Given the description of an element on the screen output the (x, y) to click on. 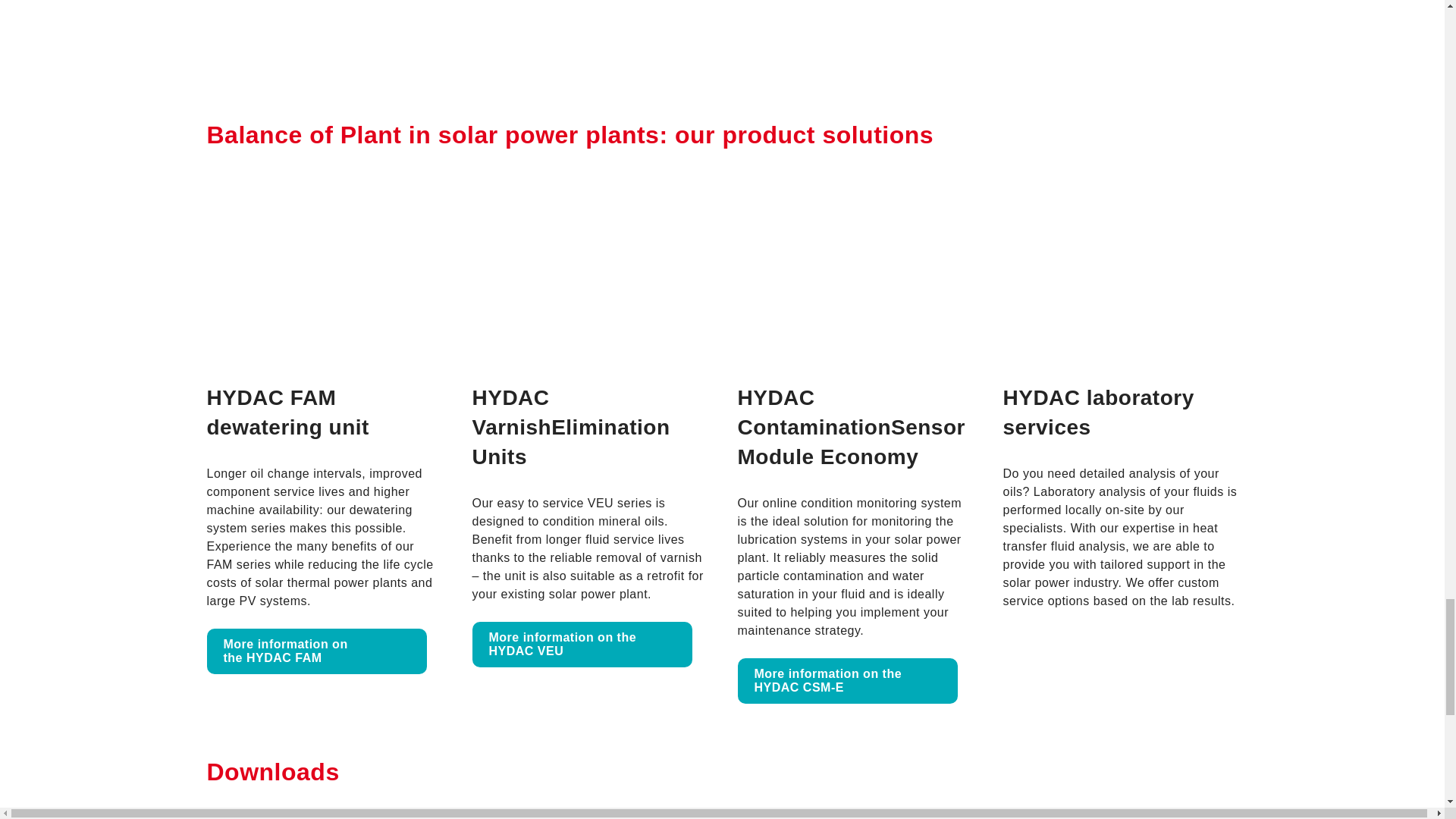
Dewatering and other conditioning systems (316, 651)
CSM Economy (846, 680)
